Given the description of an element on the screen output the (x, y) to click on. 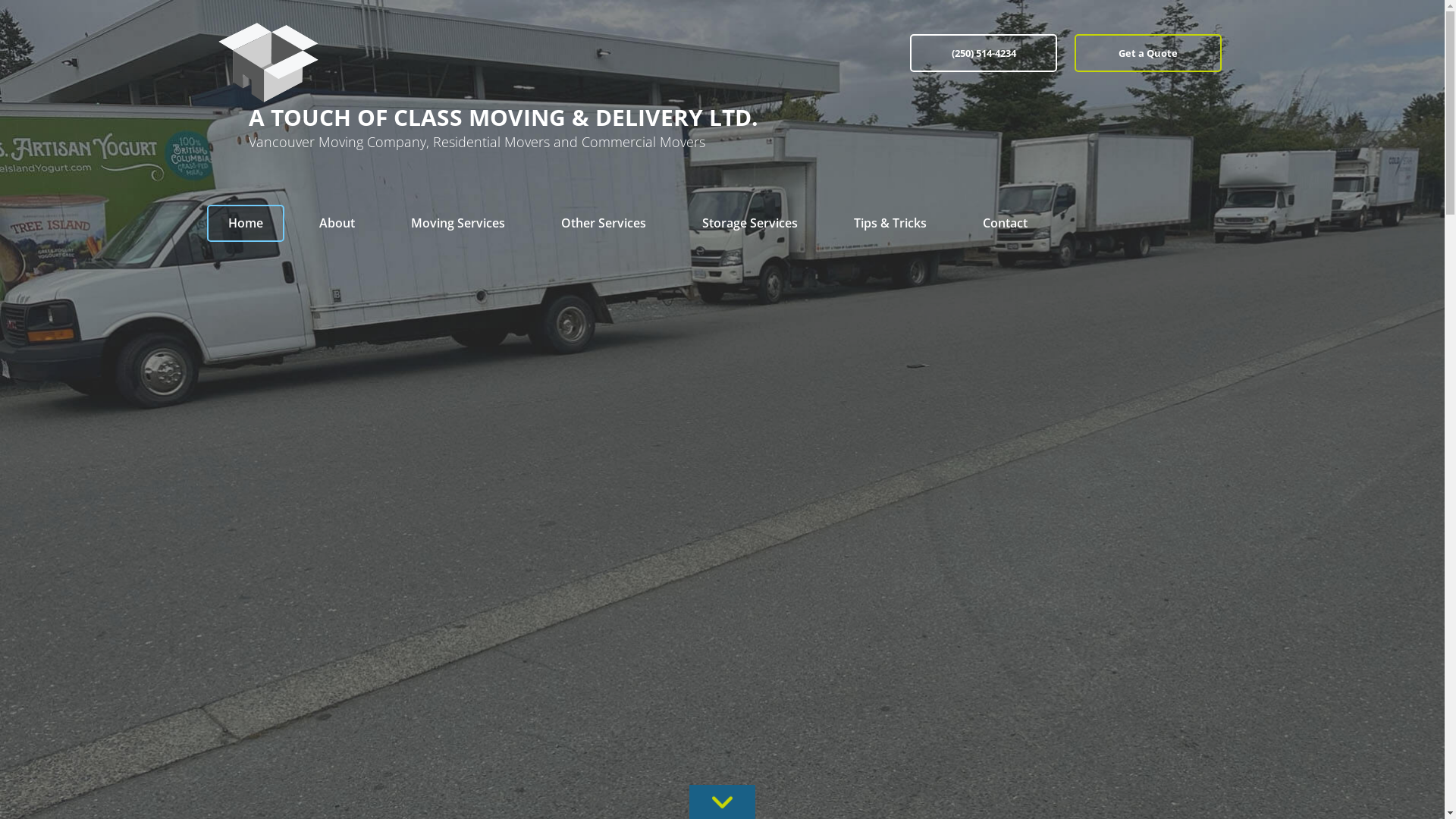
Lab and Medical Equipment Element type: text (457, 469)
Piano Movers Element type: text (603, 438)
Home Movers Element type: text (457, 378)
Short Term Storage Element type: text (749, 256)
Local Moves Element type: text (457, 347)
Storage Element type: text (749, 317)
Specialty Moving Element type: text (603, 317)
Junk Removal Element type: text (603, 256)
Tips & Tricks Element type: text (889, 222)
Packing and Unpacking Element type: text (603, 287)
Commercial Office Moving Element type: text (457, 438)
Home Element type: text (244, 222)
Other Services Element type: text (603, 222)
Storage Services Element type: text (749, 222)
Long Distance Moving Element type: text (457, 287)
Contact Element type: text (1004, 222)
Home Staging Element type: text (603, 469)
Commercial Movers Element type: text (457, 317)
(250) 514-4234 Element type: text (983, 53)
Long Term Storage Element type: text (749, 287)
Truck and Trailer Rental Element type: text (603, 378)
Industrial Moving Element type: text (457, 408)
About Element type: text (336, 222)
Moving Services Element type: text (457, 222)
Furniture Disassembly and Reassembly Element type: text (603, 408)
Packing Supplies Element type: text (603, 347)
A TOUCH OF CLASS MOVING & DELIVERY LTD. Element type: text (565, 117)
Residential Moving Element type: text (457, 256)
